Given the description of an element on the screen output the (x, y) to click on. 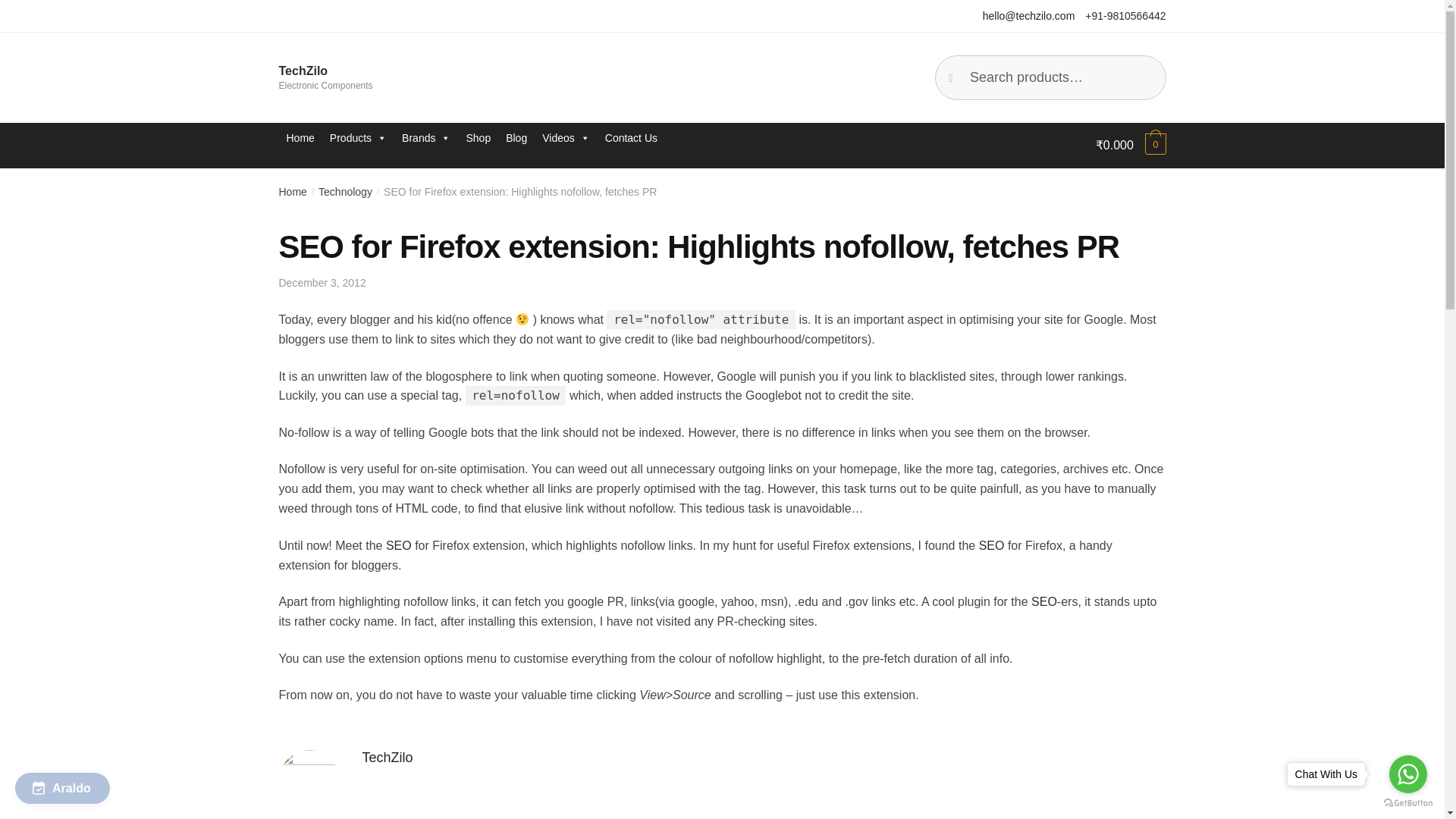
Search (967, 70)
TechZilo (304, 70)
Products (357, 137)
View your shopping cart (1131, 145)
Home (300, 137)
